Given the description of an element on the screen output the (x, y) to click on. 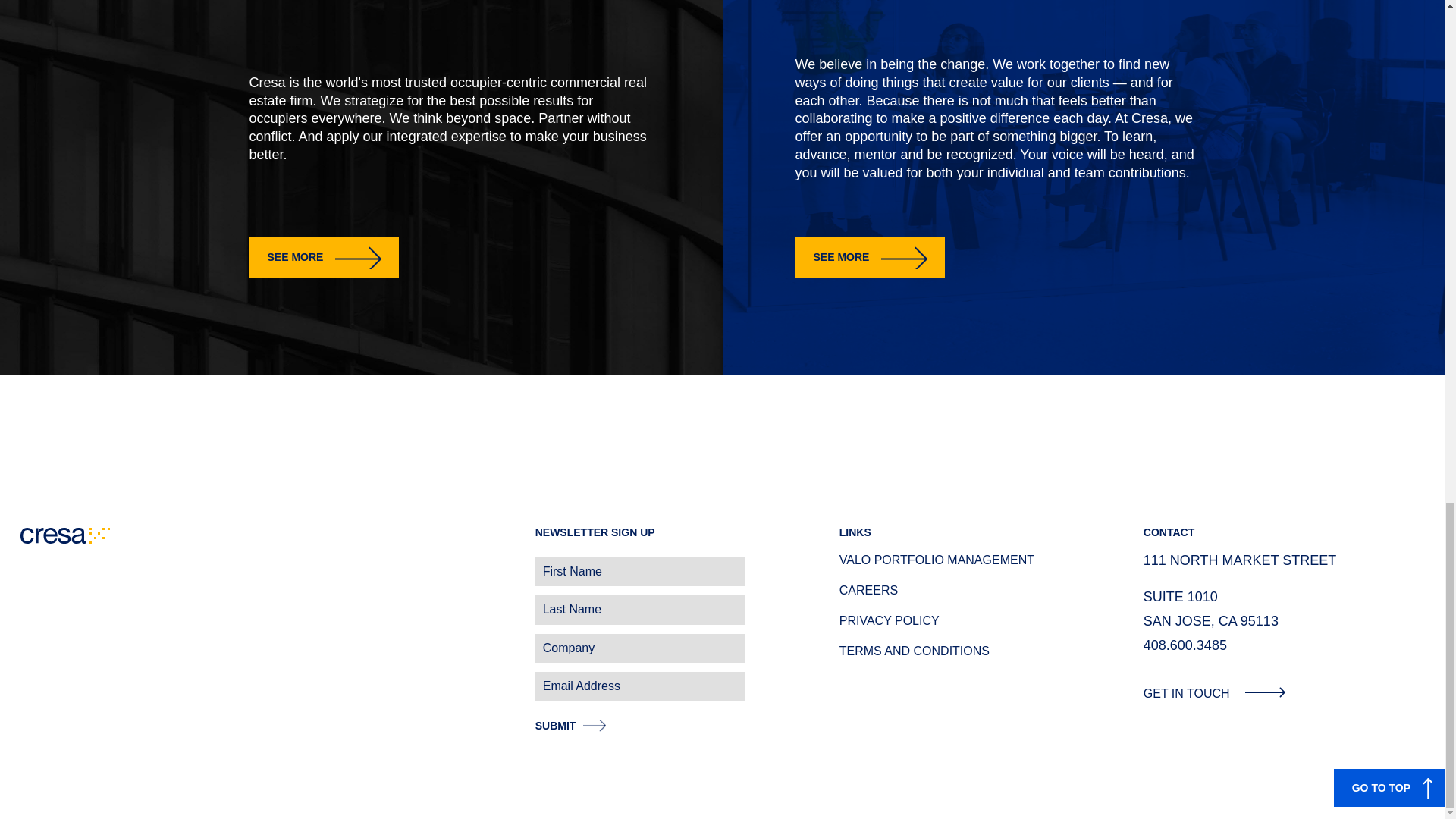
ARROW SMALL (1264, 692)
